Given the description of an element on the screen output the (x, y) to click on. 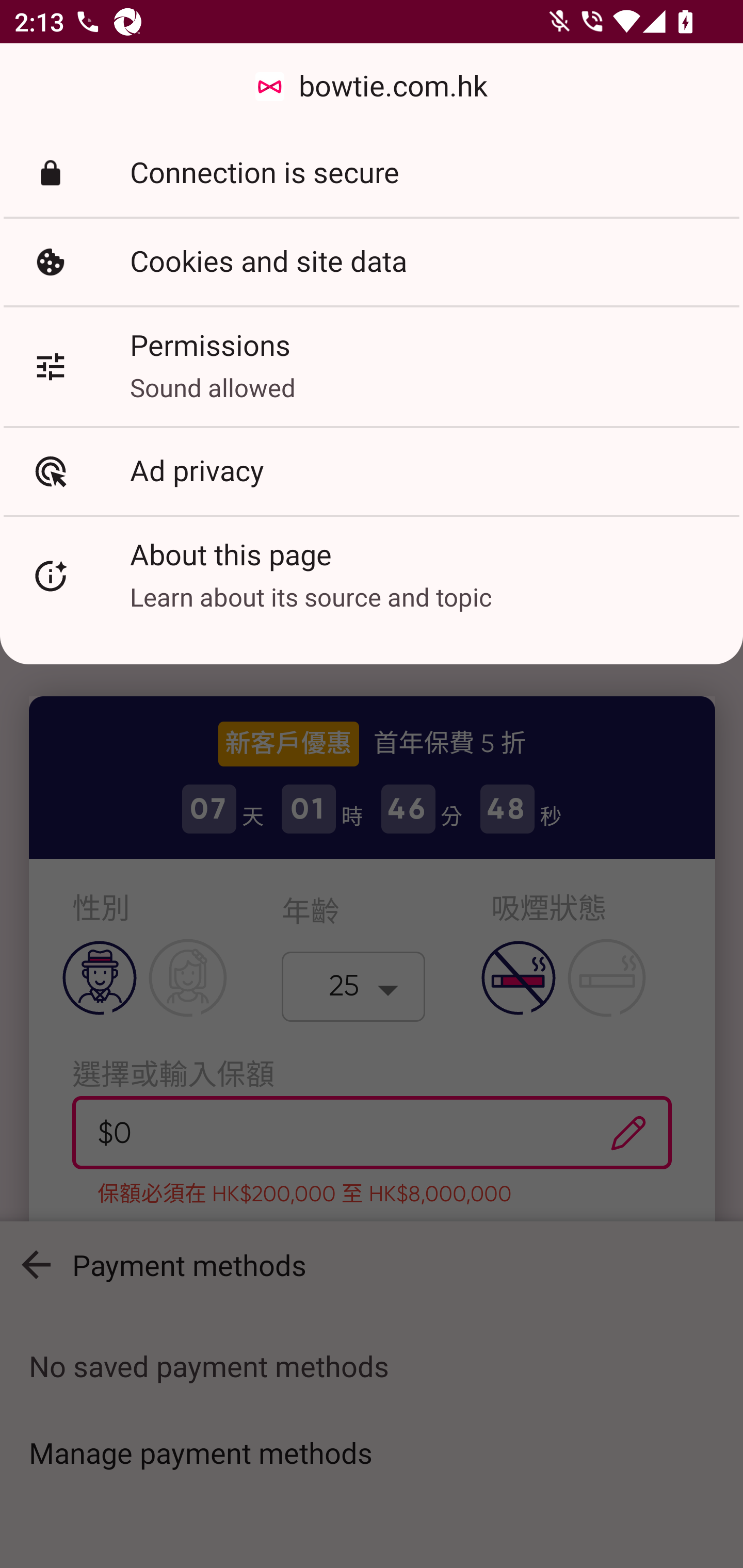
bowtie.com.hk (371, 86)
Connection is secure (371, 173)
Cookies and site data (371, 261)
Permissions Sound allowed (371, 366)
Ad privacy (371, 471)
About this page Learn about its source and topic (371, 576)
